Given the description of an element on the screen output the (x, y) to click on. 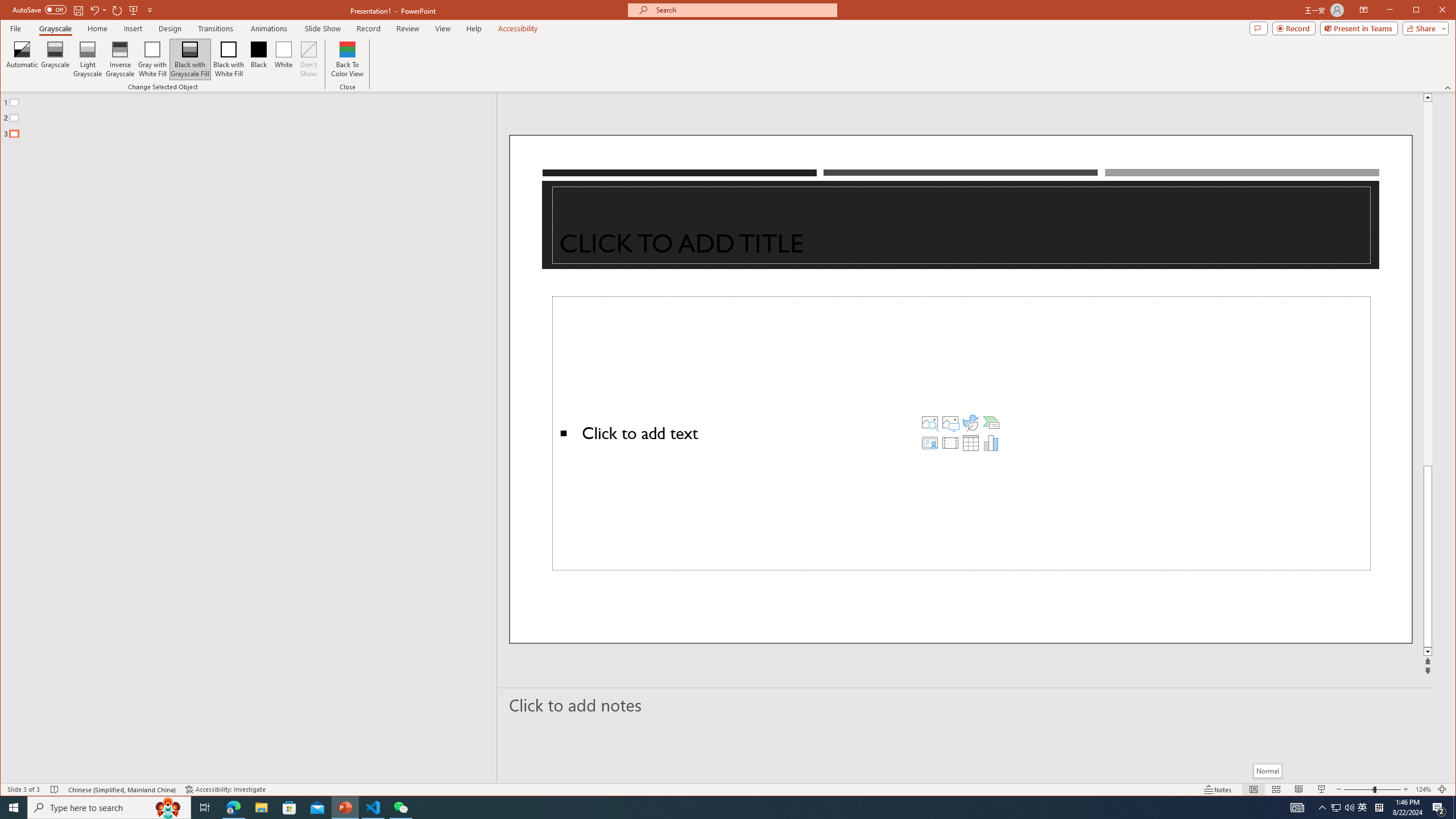
Content Placeholder (960, 433)
Insert Chart (991, 443)
Title TextBox (960, 224)
Inverse Grayscale (119, 59)
Microsoft Edge - 1 running window (233, 807)
Insert Video (949, 443)
Insert Cameo (929, 443)
